Given the description of an element on the screen output the (x, y) to click on. 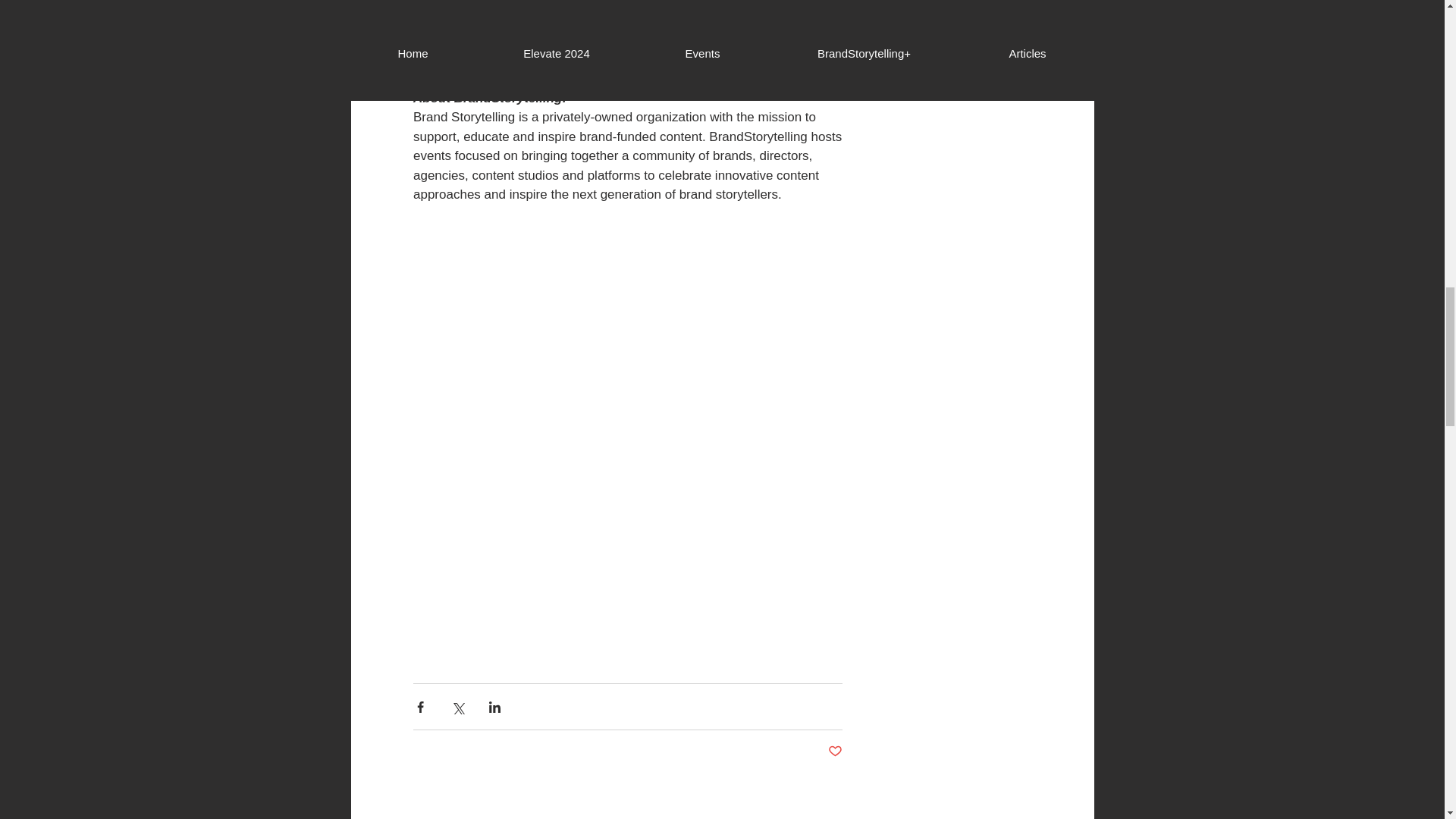
Post not marked as liked (835, 751)
